Given the description of an element on the screen output the (x, y) to click on. 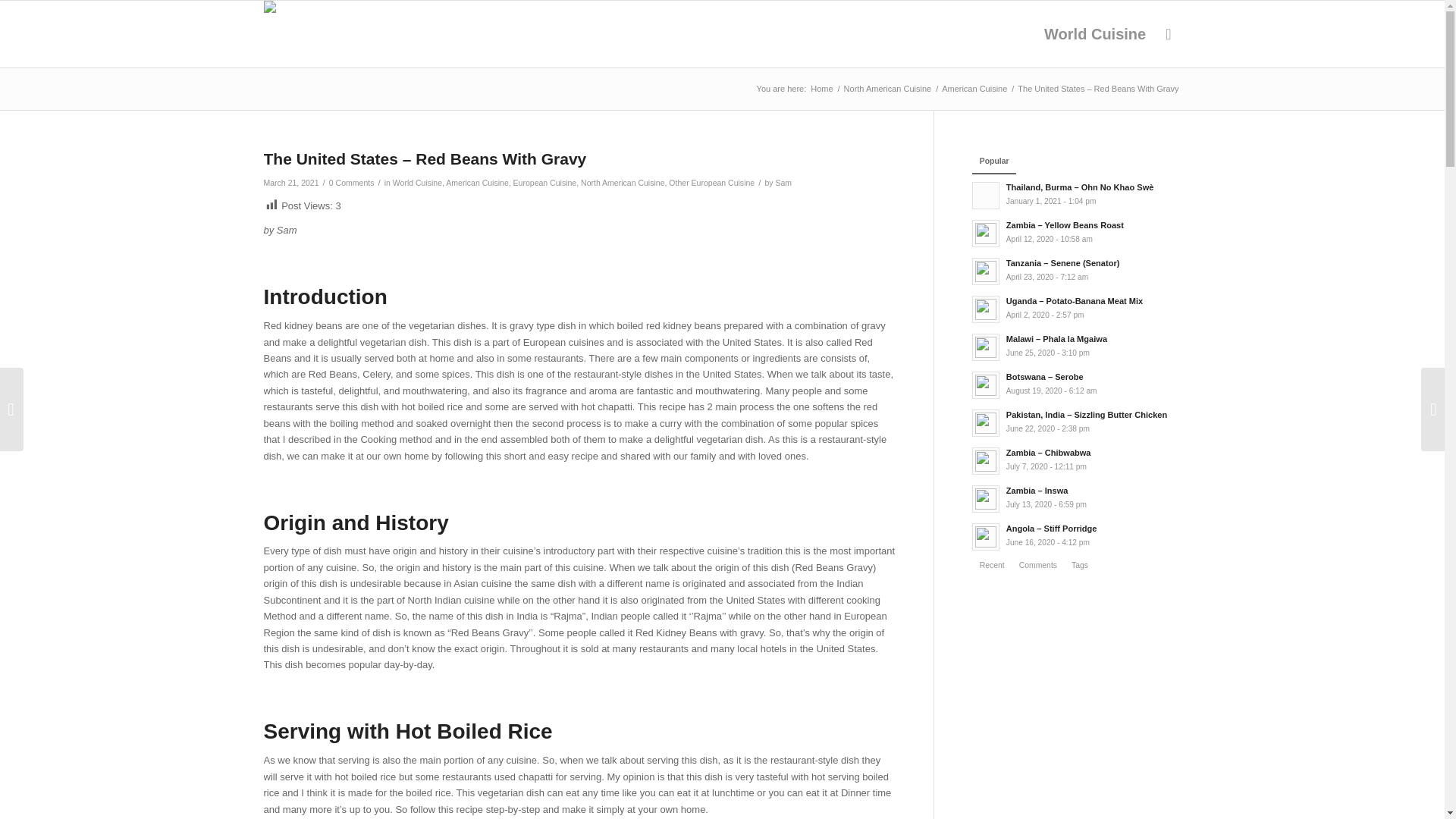
World Cuisine (1094, 33)
Posts by Sam (783, 182)
Finmail Topic (821, 89)
